Given the description of an element on the screen output the (x, y) to click on. 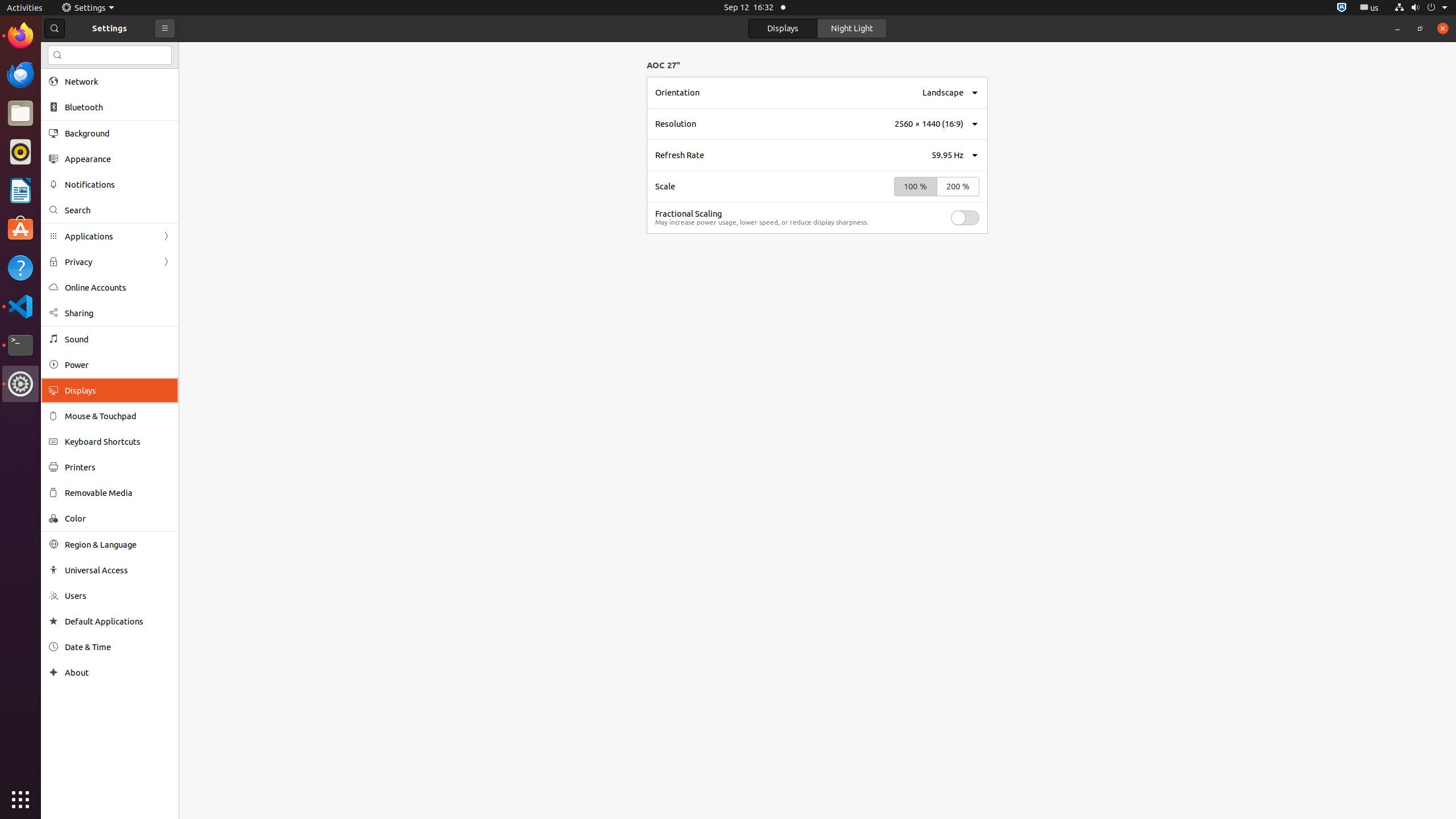
Firefox Web Browser Element type: push-button (20, 35)
Refresh Rate Element type: label (679, 154)
Default Applications Element type: label (117, 621)
Displays Element type: label (117, 390)
Notifications Element type: label (117, 184)
